Given the description of an element on the screen output the (x, y) to click on. 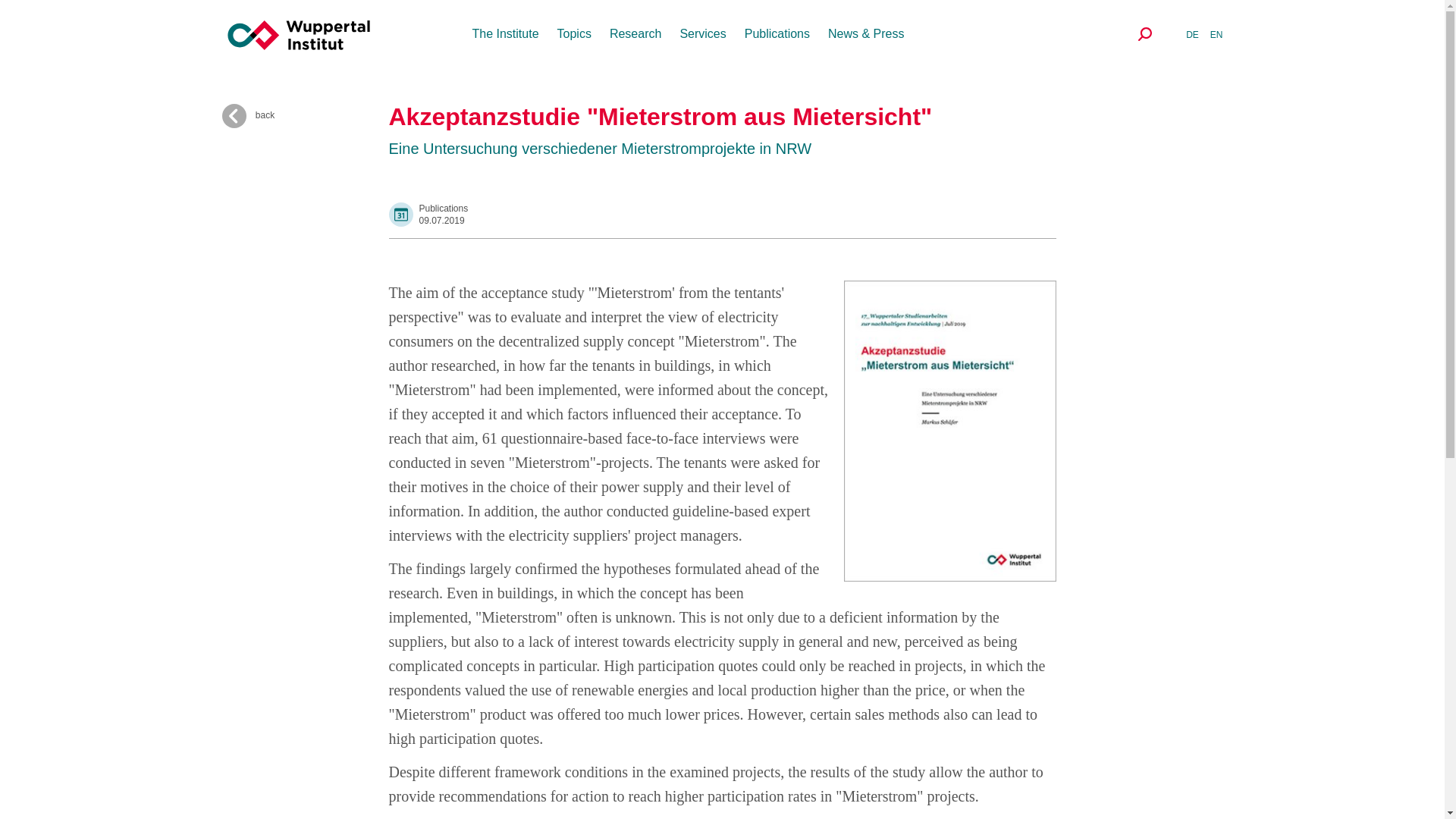
The Institute (505, 33)
back (304, 115)
Services (702, 33)
Topics (573, 33)
EN (1216, 34)
DE (1192, 34)
Publications (776, 33)
Research (634, 33)
